Given the description of an element on the screen output the (x, y) to click on. 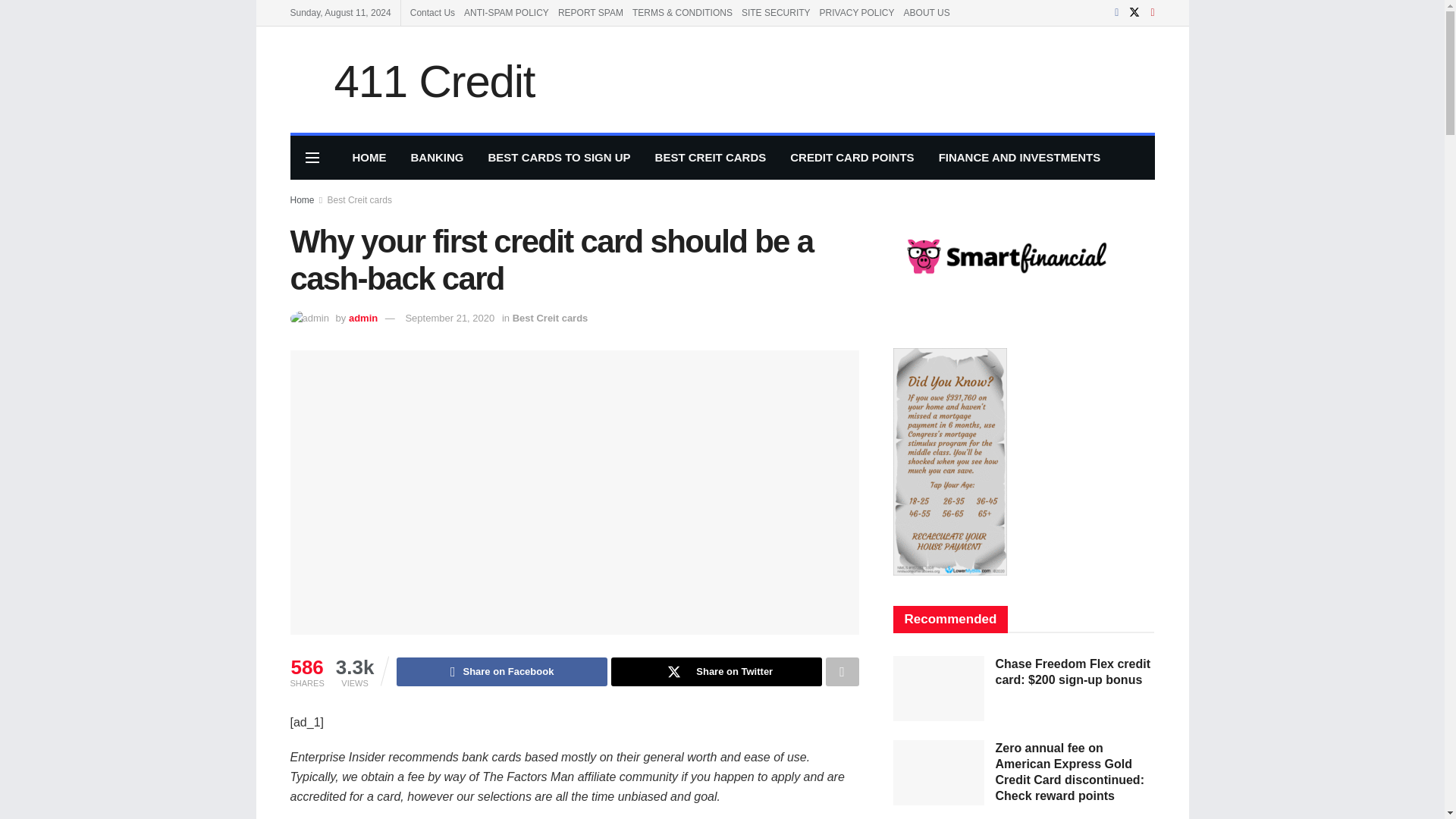
Contact Us (432, 12)
CREDIT CARD POINTS (851, 157)
BANKING (437, 157)
PRIVACY POLICY (857, 12)
Share on Twitter (716, 671)
REPORT SPAM (590, 12)
FINANCE AND INVESTMENTS (1019, 157)
411 Credit (411, 79)
Home (301, 199)
BEST CREIT CARDS (710, 157)
